Given the description of an element on the screen output the (x, y) to click on. 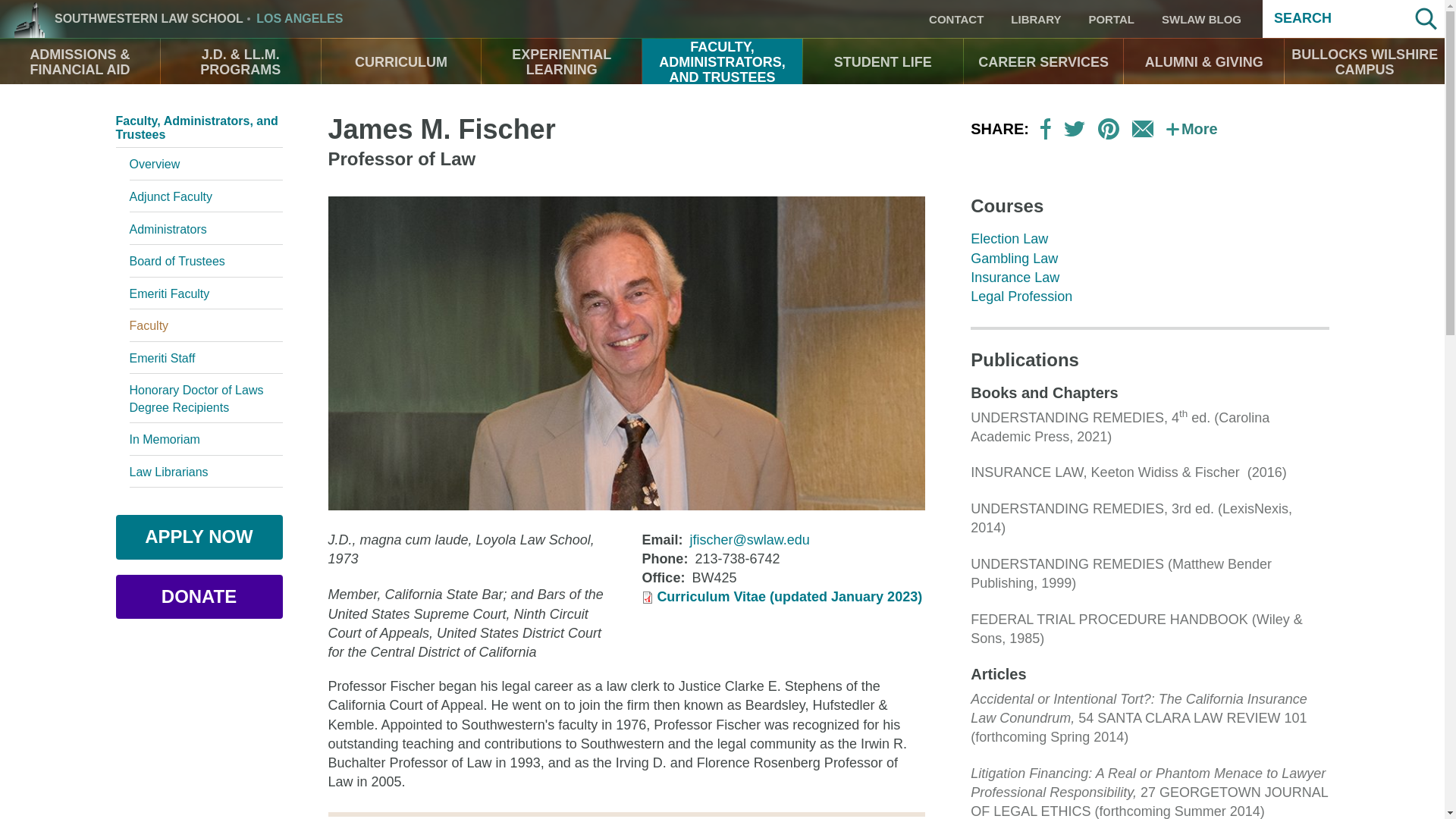
Ways to take your skills out into the world as a law student (561, 62)
Fischer, James.pdf (788, 596)
The rich tapestry of student life at Southwestern (882, 62)
